Given the description of an element on the screen output the (x, y) to click on. 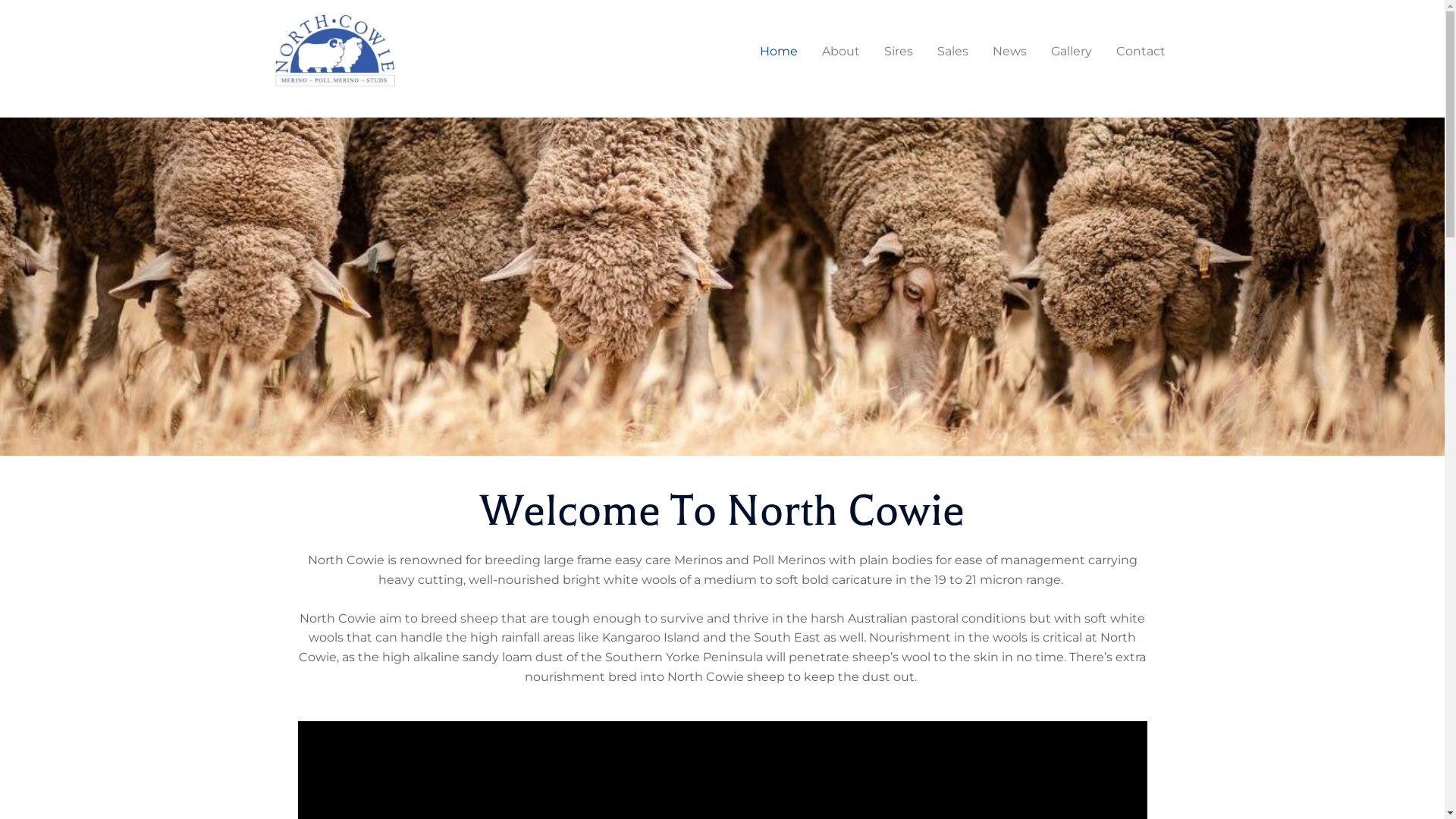
Contact Element type: text (1140, 51)
About Element type: text (840, 51)
Sales Element type: text (952, 51)
Home Element type: text (778, 51)
Sires Element type: text (898, 51)
Gallery Element type: text (1071, 51)
News Element type: text (1008, 51)
